Given the description of an element on the screen output the (x, y) to click on. 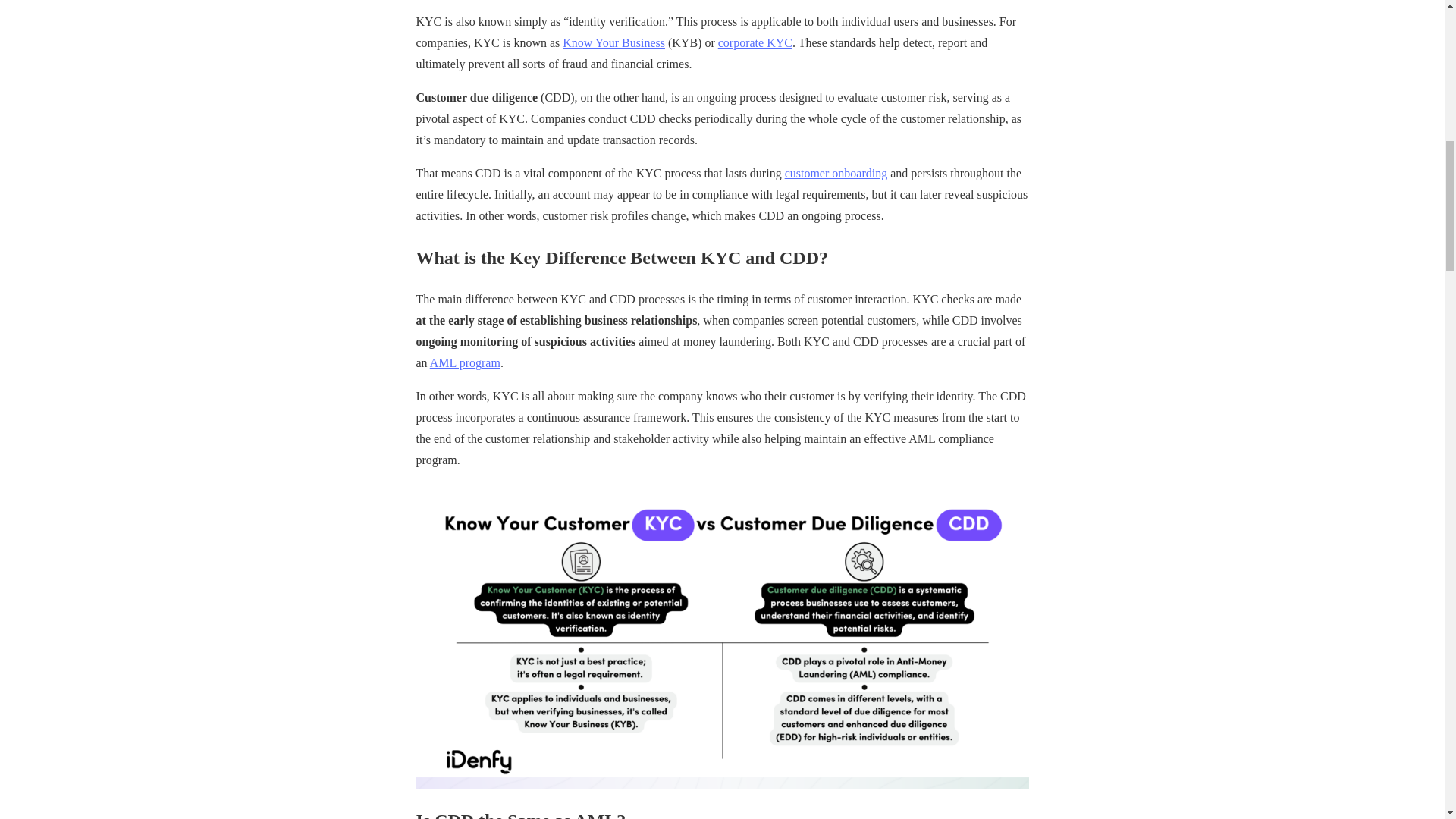
AML program (464, 362)
Know Your Business (613, 42)
customer onboarding (836, 173)
corporate KYC (754, 42)
